Given the description of an element on the screen output the (x, y) to click on. 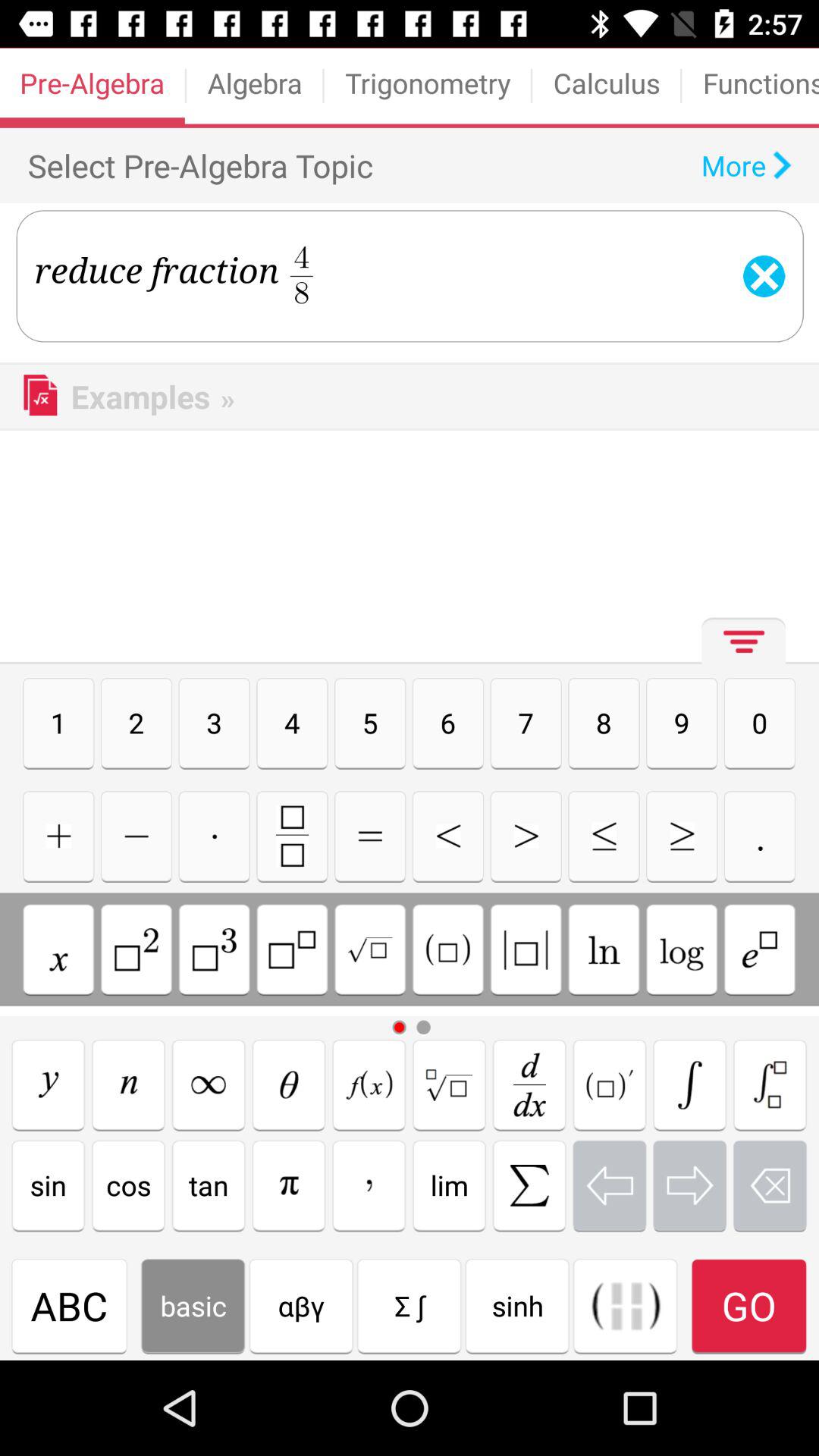
squared brackets (526, 949)
